Given the description of an element on the screen output the (x, y) to click on. 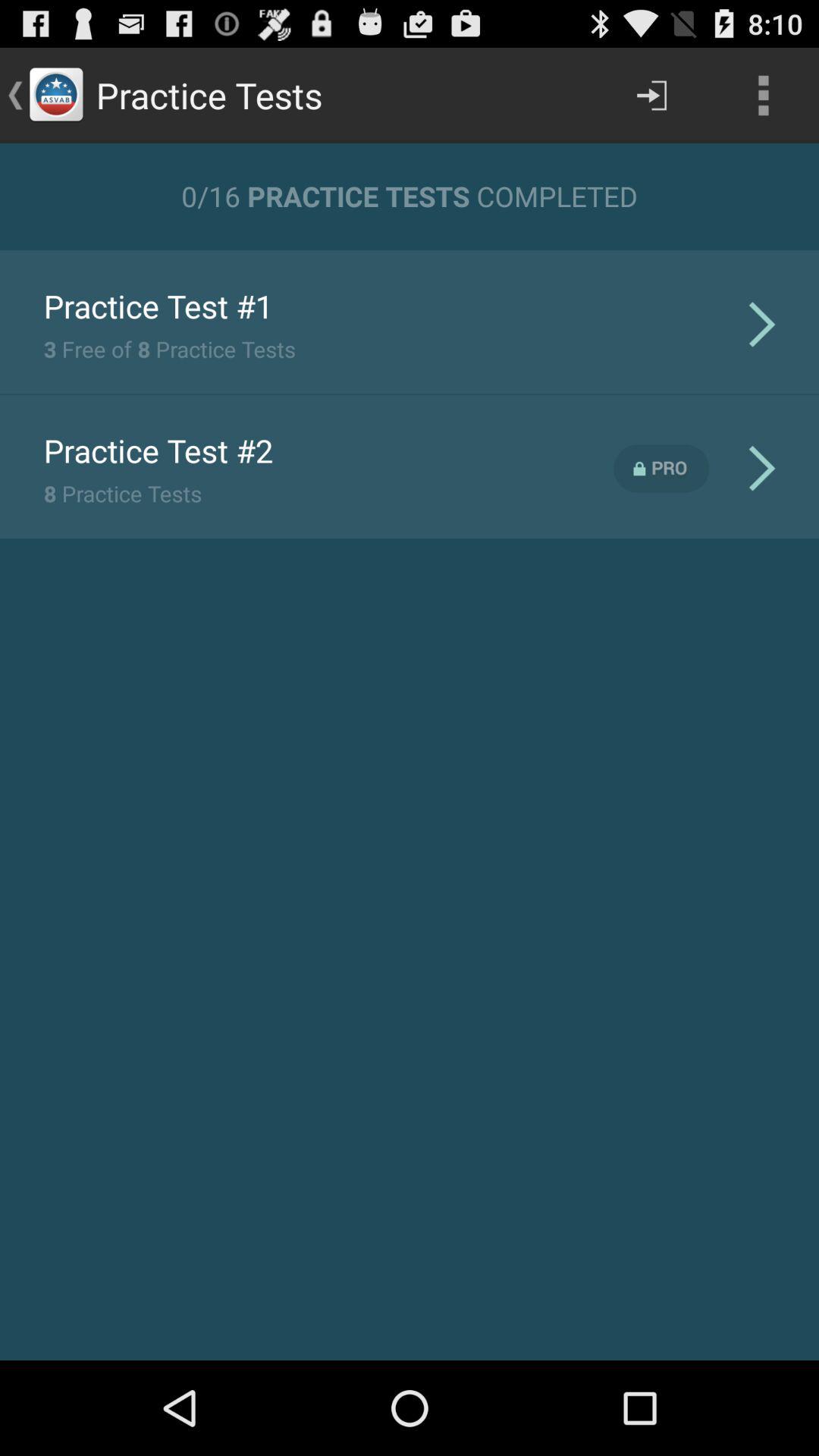
open icon to the right of the practice tests app (651, 95)
